Given the description of an element on the screen output the (x, y) to click on. 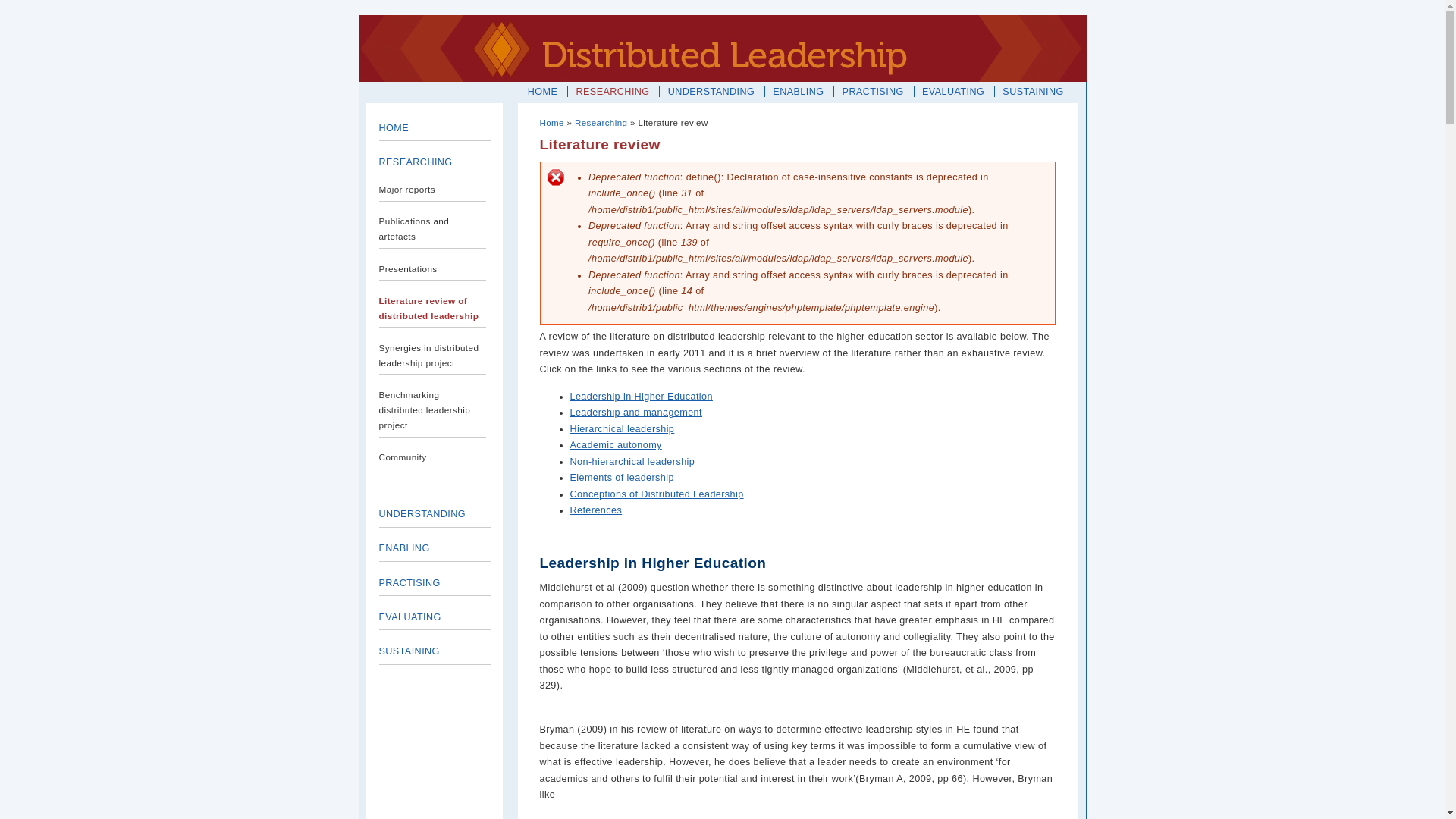
Conceptions of Distributed Leadership Element type: text (656, 494)
References Element type: text (596, 510)
Researching Element type: text (600, 122)
Leadership in Higher Education Element type: text (641, 396)
Home Element type: hover (721, 48)
PRACTISING Element type: text (872, 91)
HOME Element type: text (394, 127)
Skip to main content Element type: text (49, 15)
EVALUATING Element type: text (953, 91)
EVALUATING Element type: text (410, 616)
ENABLING Element type: text (404, 547)
SUSTAINING Element type: text (1032, 91)
Home Element type: text (551, 122)
Publications and artefacts Element type: text (414, 228)
Benchmarking distributed leadership project Element type: text (424, 409)
UNDERSTANDING Element type: text (422, 513)
Elements of leadership Element type: text (622, 477)
Academic autonomy Element type: text (616, 444)
PRACTISING Element type: text (409, 582)
UNDERSTANDING Element type: text (711, 91)
Hierarchical leadership Element type: text (622, 428)
ENABLING Element type: text (797, 91)
HOME Element type: text (542, 91)
RESEARCHING Element type: text (415, 161)
Literature review of distributed leadership Element type: text (429, 307)
Leadership and management Element type: text (636, 412)
Presentations Element type: text (408, 268)
SUSTAINING Element type: text (409, 651)
Synergies in distributed leadership project Element type: text (429, 354)
Community Element type: text (402, 456)
Non-hierarchical leadership Element type: text (632, 461)
Major reports Element type: text (407, 189)
RESEARCHING Element type: text (612, 91)
